Given the description of an element on the screen output the (x, y) to click on. 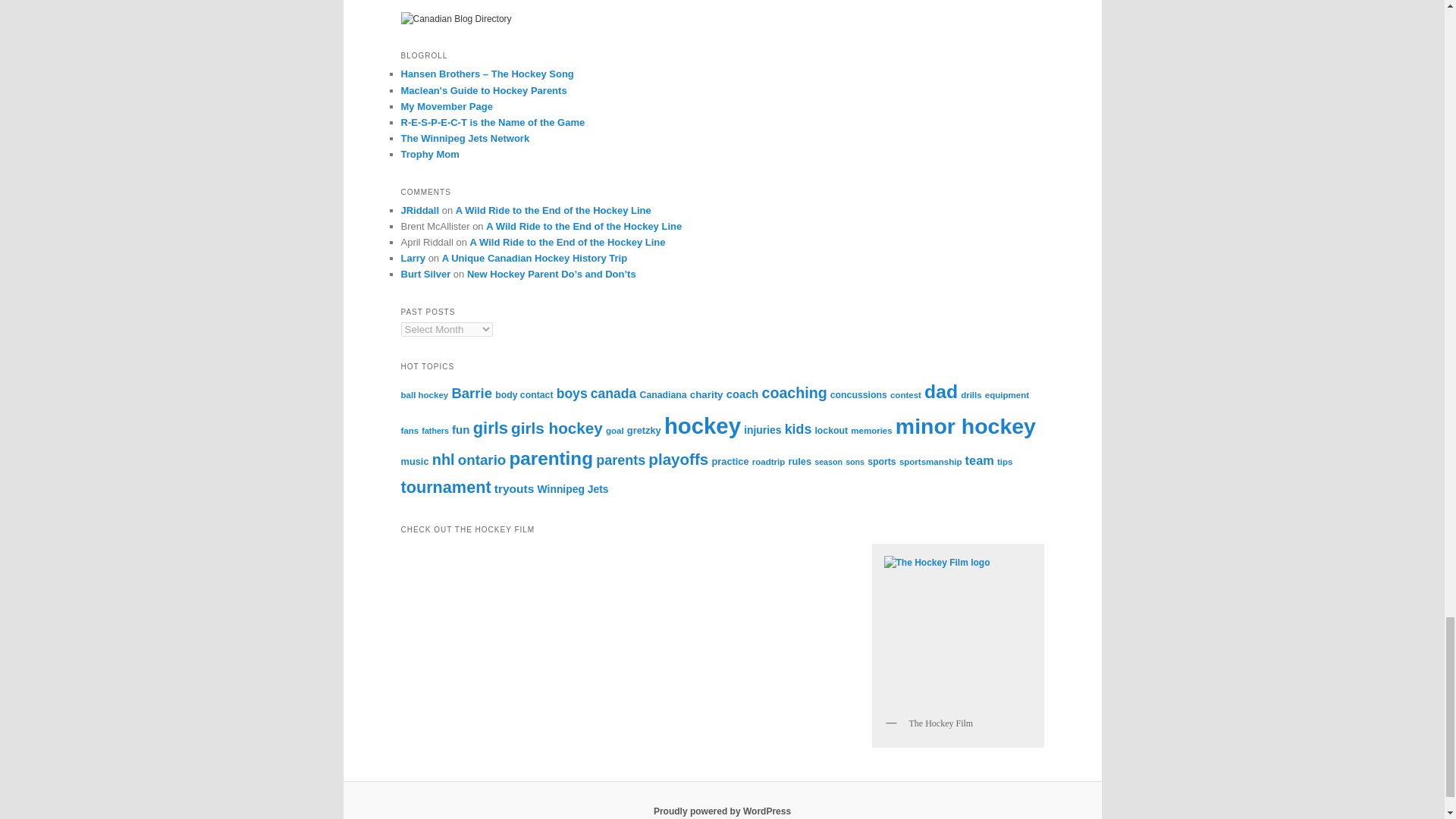
R-E-S-P-E-C-T is the Name of the Game (492, 122)
Trophy Mom (429, 153)
Larry (412, 257)
A Unique Canadian Hockey History Trip (534, 257)
JRiddall (419, 210)
Winning ideas for sports parents. (429, 153)
Maclean's Guide to Hockey Parents (483, 90)
Hockey based life lessons. (492, 122)
Classic song, by a not so classic band. (486, 73)
The Winnipeg Jets Network (464, 138)
